Given the description of an element on the screen output the (x, y) to click on. 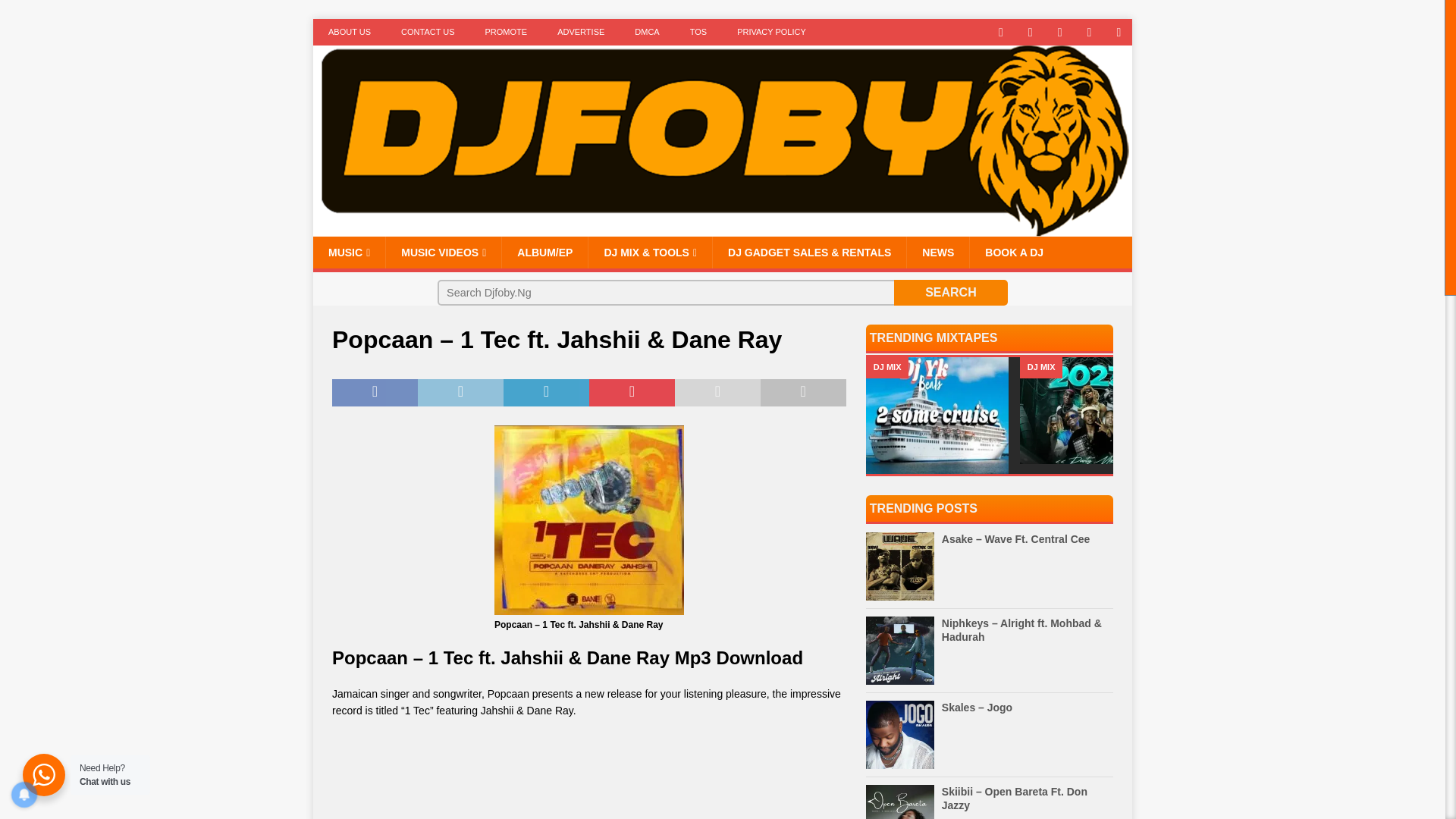
Search (950, 292)
Advertisement (588, 776)
ADVERTISE (580, 31)
ABOUT US (349, 31)
DMCA (647, 31)
Dj Foby (722, 227)
PROMOTE (506, 31)
PRIVACY POLICY (771, 31)
CONTACT US (427, 31)
TOS (698, 31)
